Given the description of an element on the screen output the (x, y) to click on. 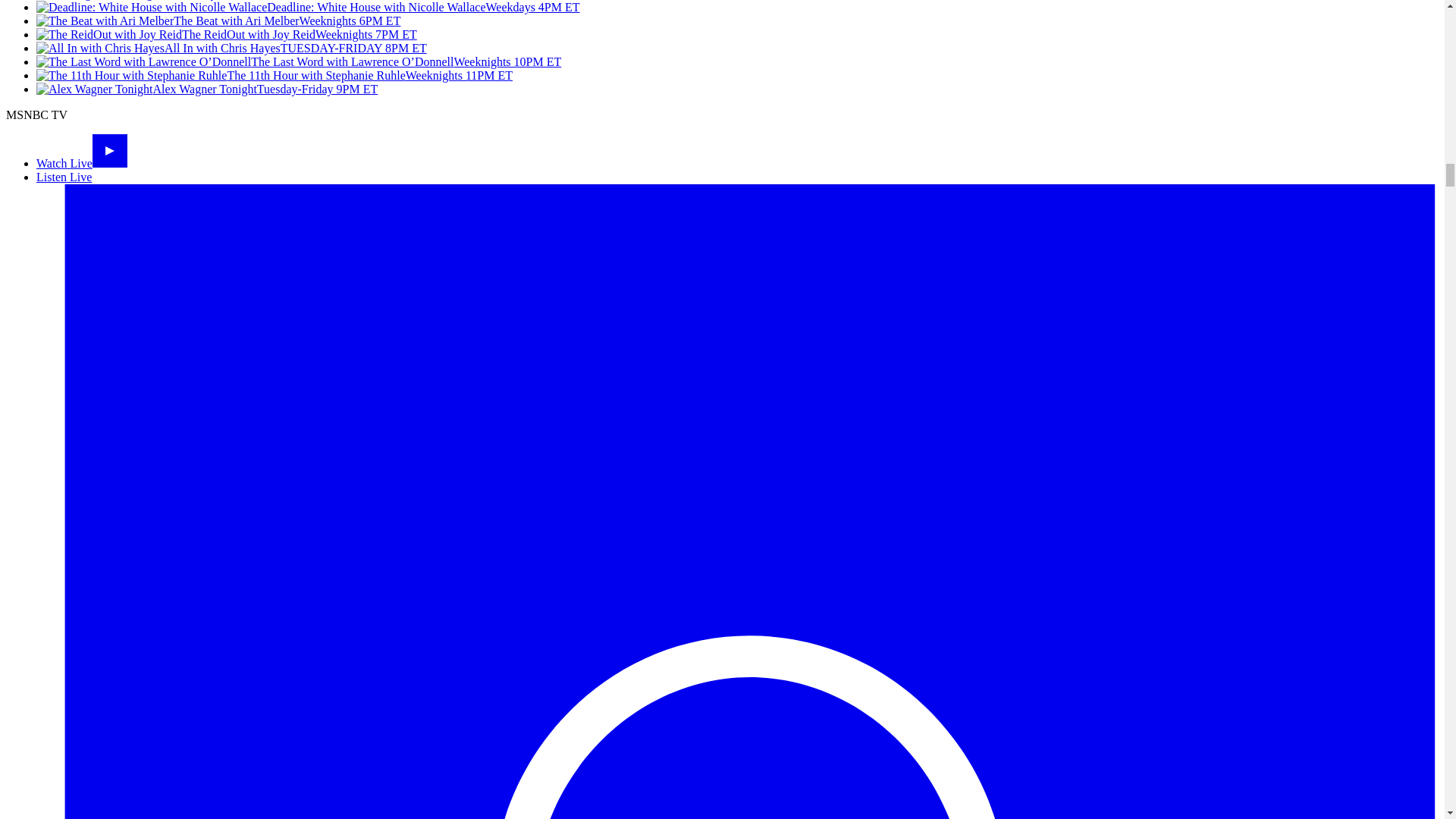
Deadline: White House with Nicolle WallaceWeekdays 4PM ET (307, 6)
The Beat with Ari MelberWeeknights 6PM ET (218, 20)
Alex Wagner TonightTuesday-Friday 9PM ET (206, 88)
All In with Chris HayesTUESDAY-FRIDAY 8PM ET (231, 47)
Watch Live (82, 163)
The ReidOut with Joy ReidWeeknights 7PM ET (226, 33)
The 11th Hour with Stephanie RuhleWeeknights 11PM ET (274, 74)
